Given the description of an element on the screen output the (x, y) to click on. 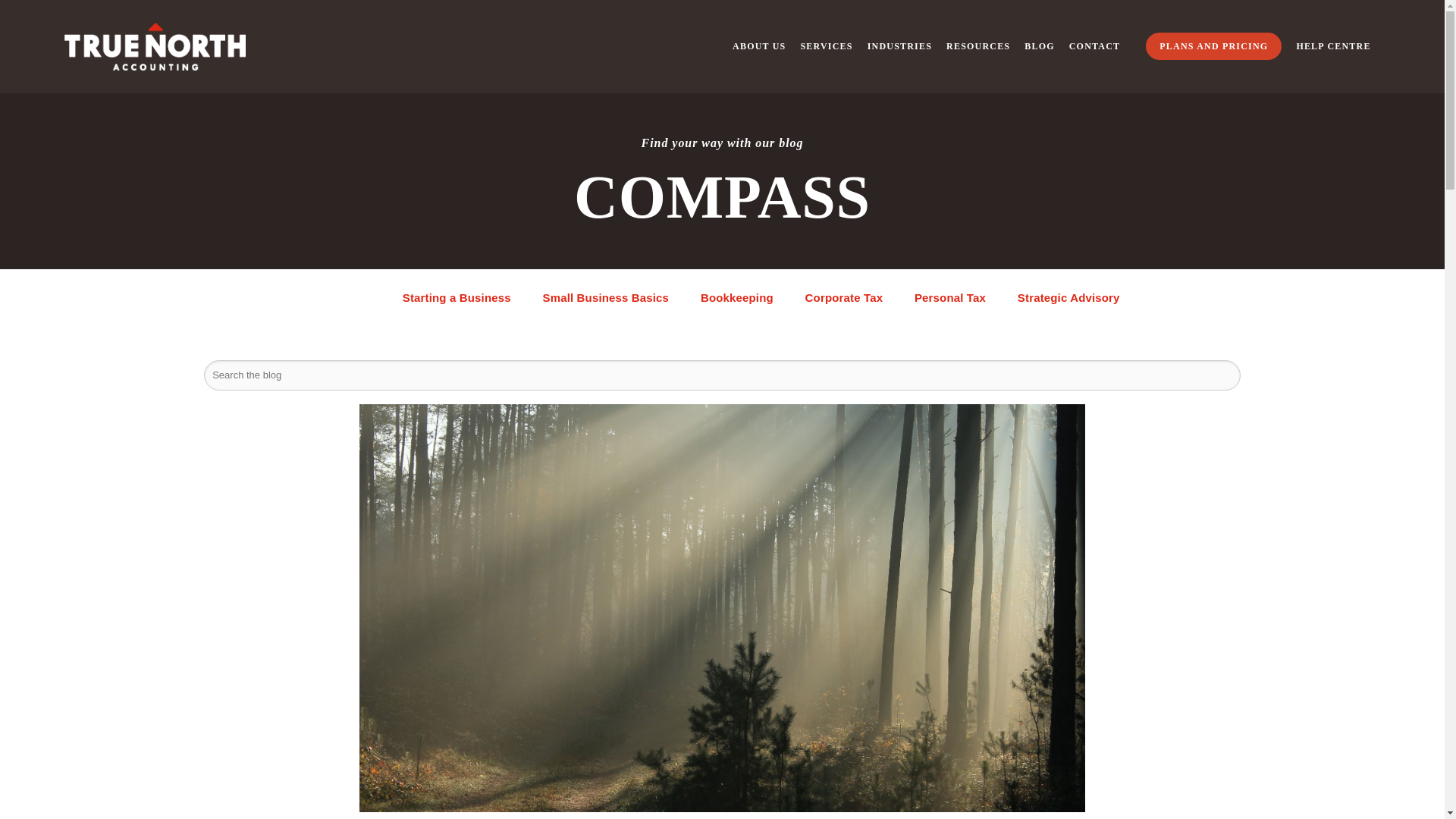
True North Accounting (155, 46)
INDUSTRIES (899, 46)
All Posts (345, 297)
HELP CENTRE (1332, 46)
CONTACT (1094, 46)
Starting a Business (457, 297)
SERVICES (825, 46)
BLOG (1039, 46)
ABOUT US (759, 46)
RESOURCES (978, 46)
PLANS AND PRICING (1213, 45)
